Given the description of an element on the screen output the (x, y) to click on. 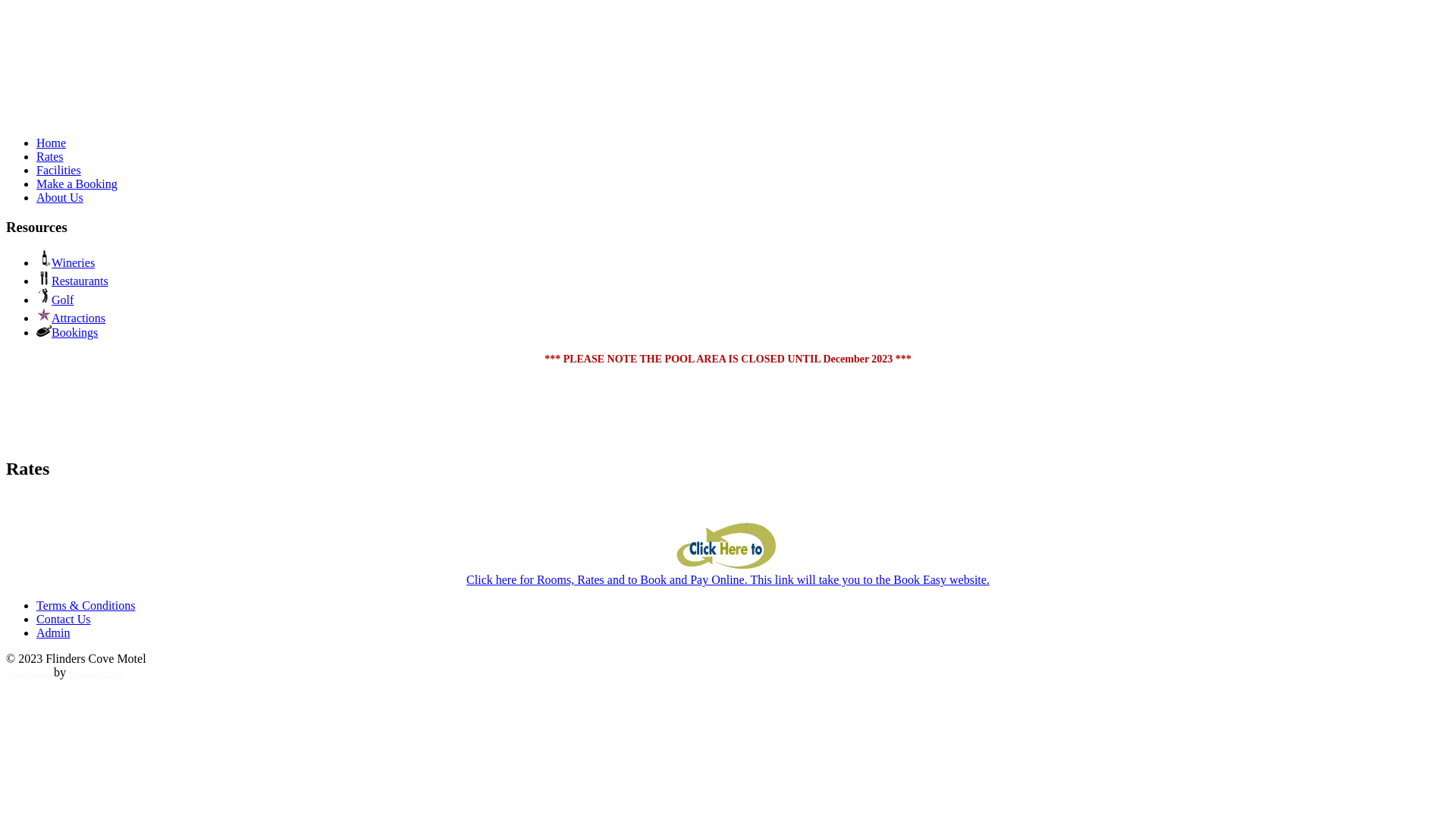
Terms & Conditions Element type: text (85, 605)
Make a Booking Element type: text (76, 183)
Restaurants Element type: text (72, 280)
Attractions Element type: text (70, 317)
Contact Us Element type: text (63, 618)
Home Element type: text (50, 142)
Admin Element type: text (52, 632)
About Us Element type: text (59, 197)
Website design Element type: text (29, 673)
Golf Element type: text (54, 299)
Spoonful of Love Element type: text (95, 673)
Facilities Element type: text (58, 169)
Wineries Element type: text (65, 262)
Flinders Hotel - casual and formal dining Element type: hover (62, 92)
Bookings Element type: text (66, 332)
Rates Element type: text (49, 156)
